Given the description of an element on the screen output the (x, y) to click on. 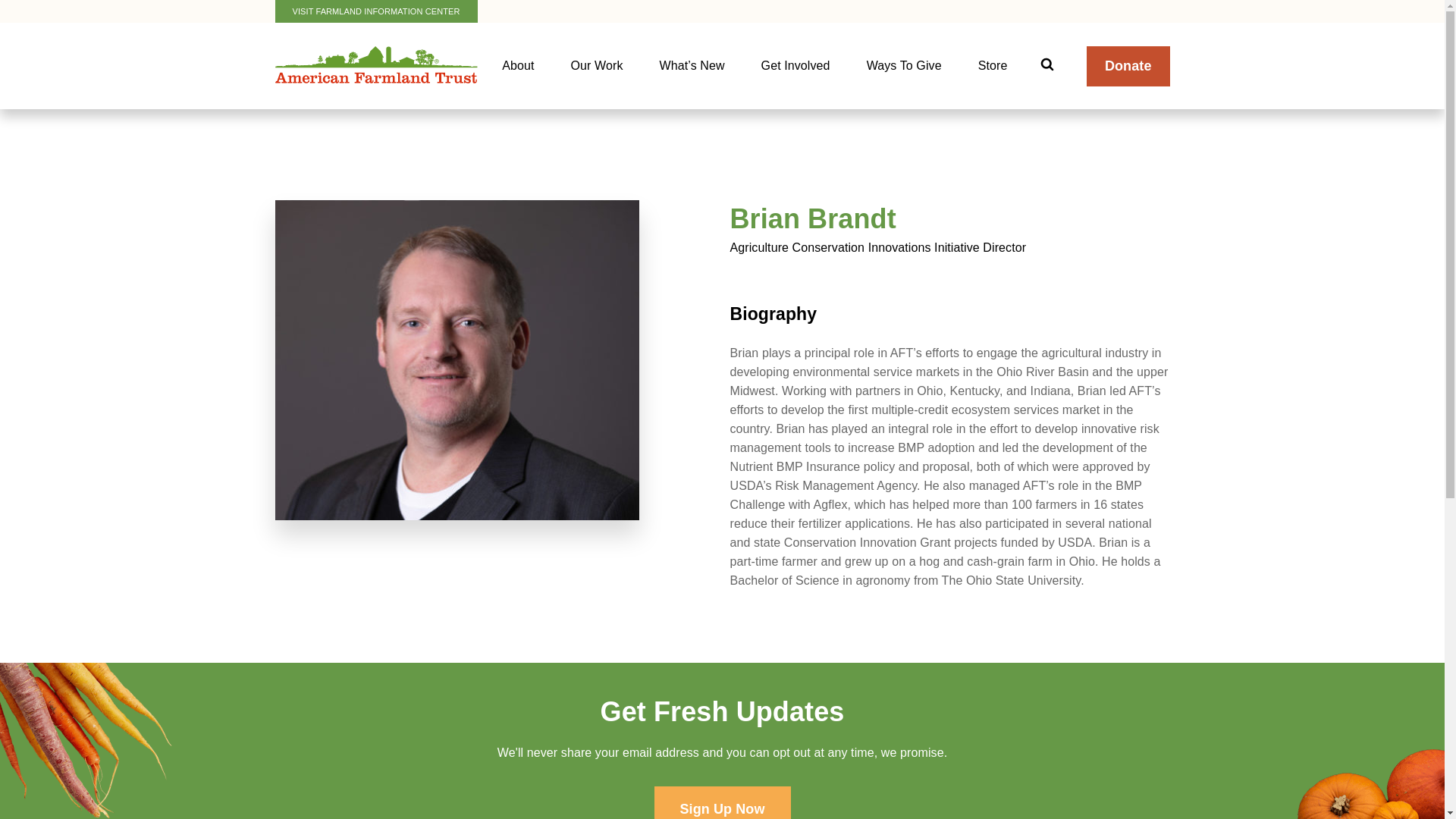
Our Work (597, 65)
Ways To Give (903, 65)
Store (992, 65)
About (517, 65)
Get Involved (795, 65)
VISIT FARMLAND INFORMATION CENTER (376, 11)
